Given the description of an element on the screen output the (x, y) to click on. 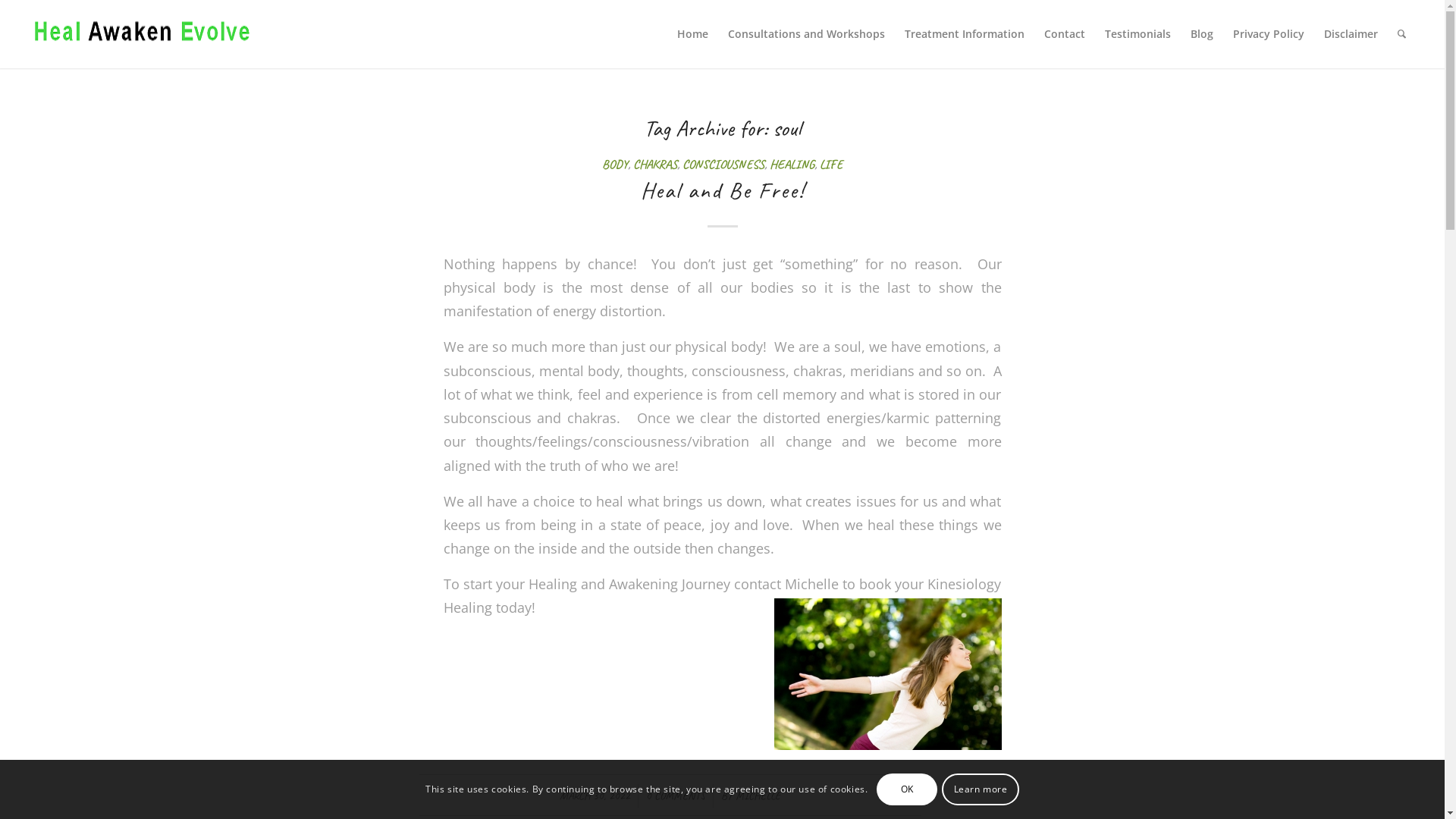
LIFE Element type: text (830, 164)
0 COMMENTS Element type: text (675, 795)
Home Element type: text (692, 34)
CHAKRAS Element type: text (655, 164)
Disclaimer Element type: text (1350, 34)
Consultations and Workshops Element type: text (806, 34)
MICHELLE Element type: text (757, 795)
CONSCIOUSNESS Element type: text (723, 164)
Privacy Policy Element type: text (1268, 34)
HEALING Element type: text (791, 164)
Testimonials Element type: text (1137, 34)
Treatment Information Element type: text (964, 34)
Heal and Be Free! Element type: text (721, 189)
Blog Element type: text (1201, 34)
OK Element type: text (906, 789)
BODY Element type: text (614, 164)
Learn more Element type: text (979, 789)
Contact Element type: text (1064, 34)
